Given the description of an element on the screen output the (x, y) to click on. 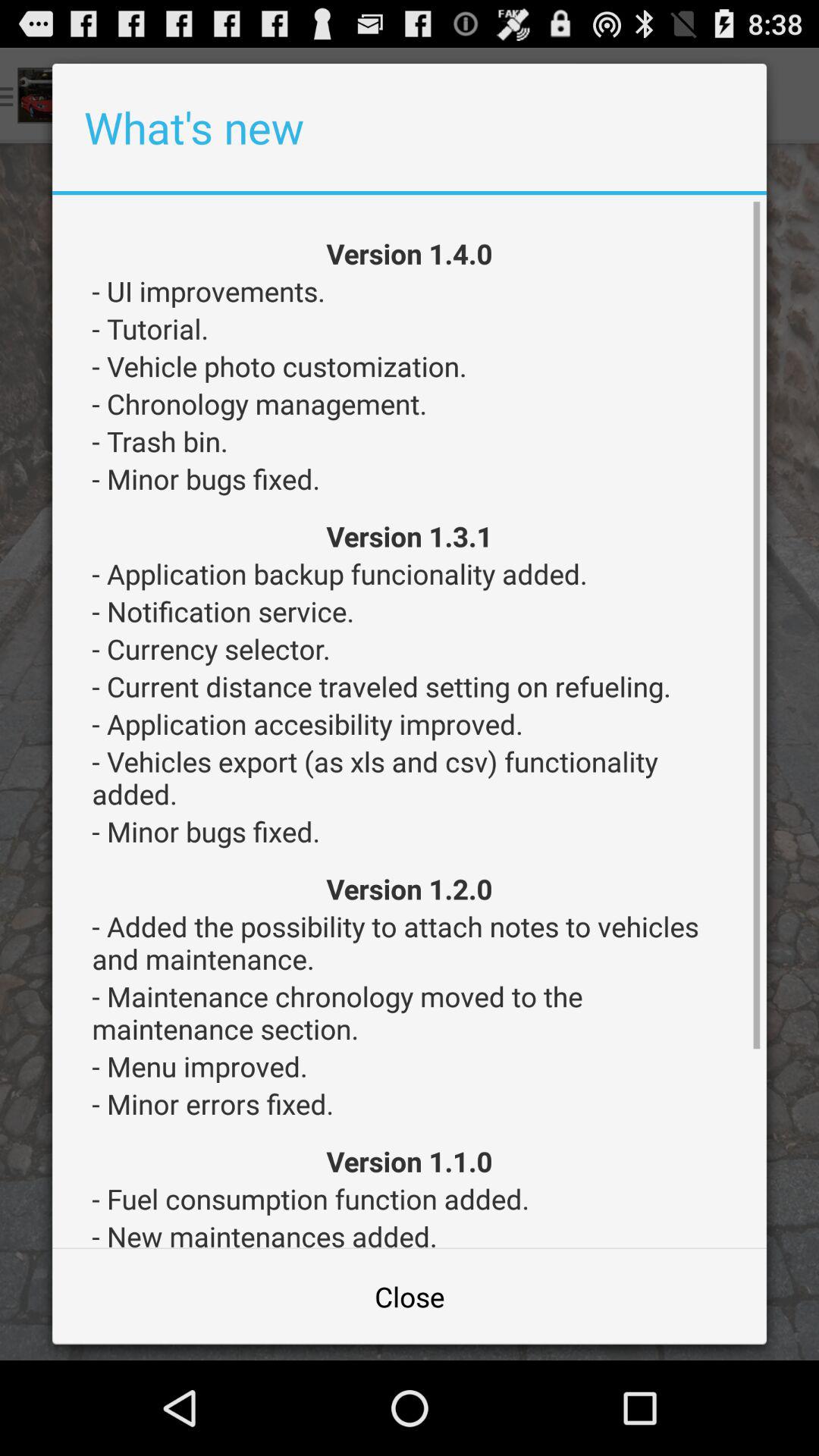
flip until close (409, 1296)
